Given the description of an element on the screen output the (x, y) to click on. 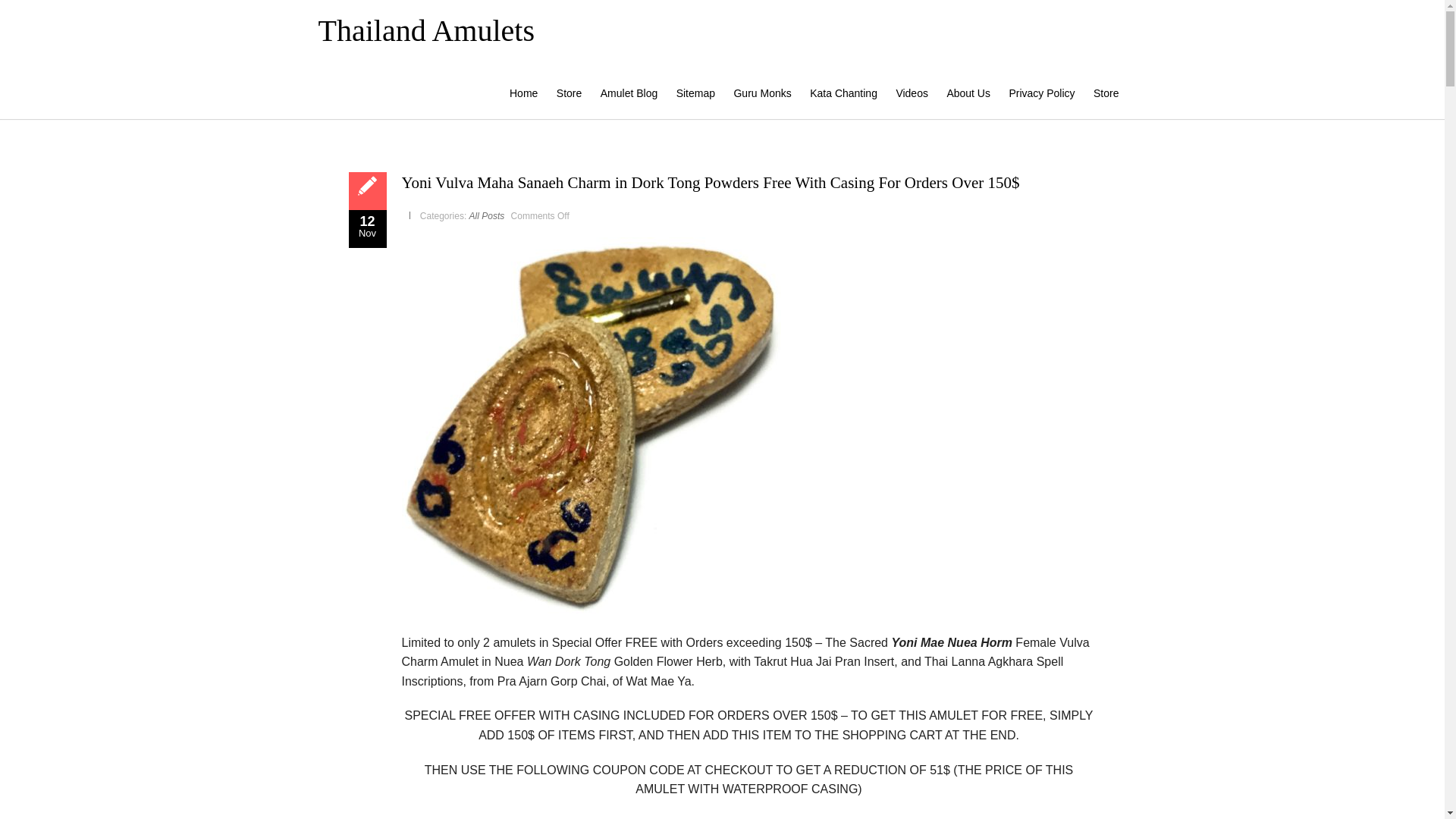
Thailand Amulets (426, 30)
Store (568, 92)
Kata Chanting (843, 92)
All Posts (486, 215)
Home (523, 92)
Videos (911, 92)
Privacy Policy (1041, 92)
Store (1105, 92)
Sitemap (695, 92)
Guru Monks (761, 92)
